Given the description of an element on the screen output the (x, y) to click on. 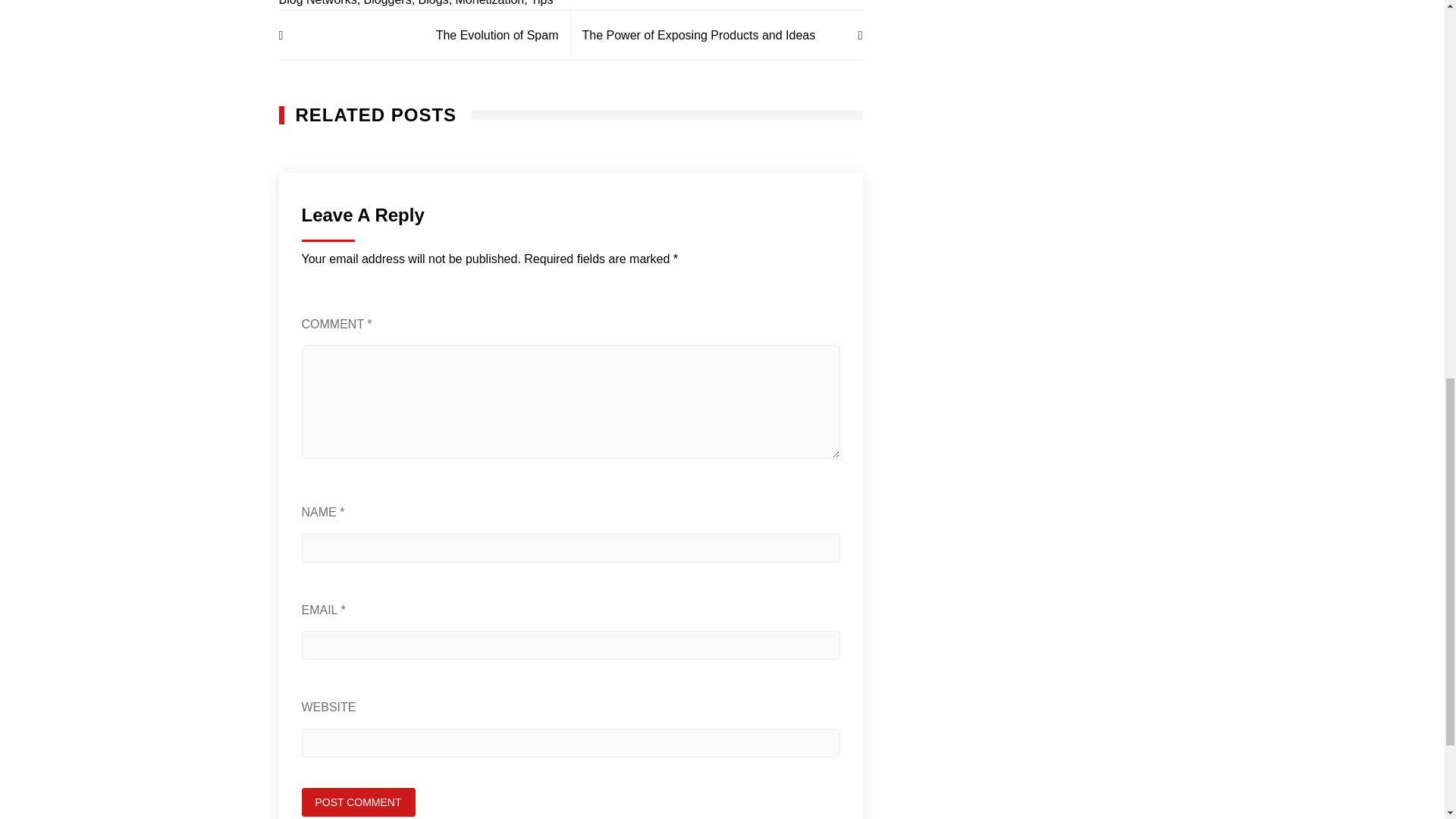
Blog Networks (317, 2)
Monetization (489, 2)
Tips (542, 2)
Post Comment (357, 801)
The Evolution of Spam (424, 35)
The Power of Exposing Products and Ideas (715, 35)
Bloggers (388, 2)
Blogs (433, 2)
Post Comment (357, 801)
